Given the description of an element on the screen output the (x, y) to click on. 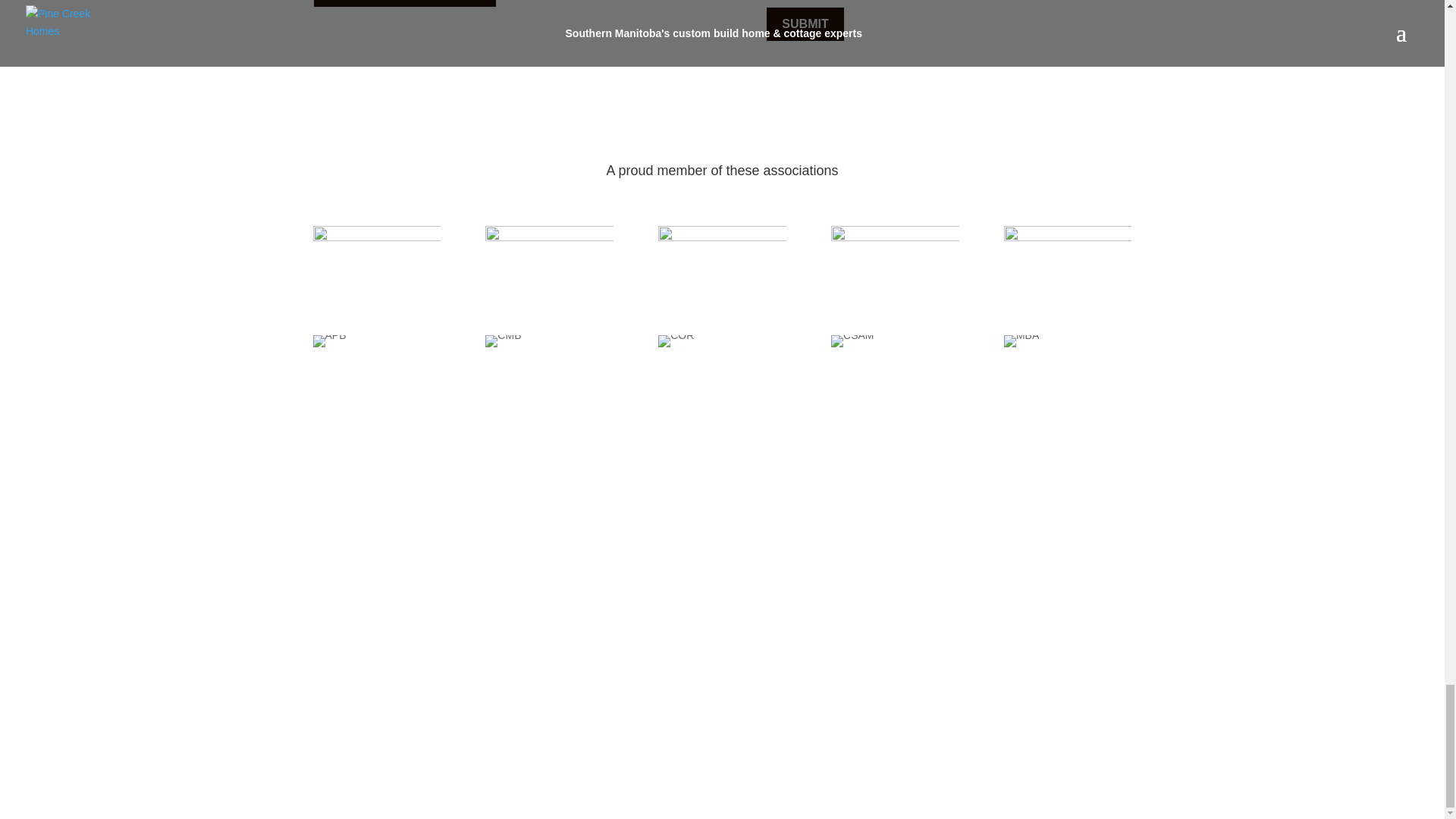
COR (722, 260)
APB (376, 260)
MBA (1067, 260)
Submit (805, 23)
CSAM (894, 260)
APB (329, 340)
CMB (548, 260)
